Given the description of an element on the screen output the (x, y) to click on. 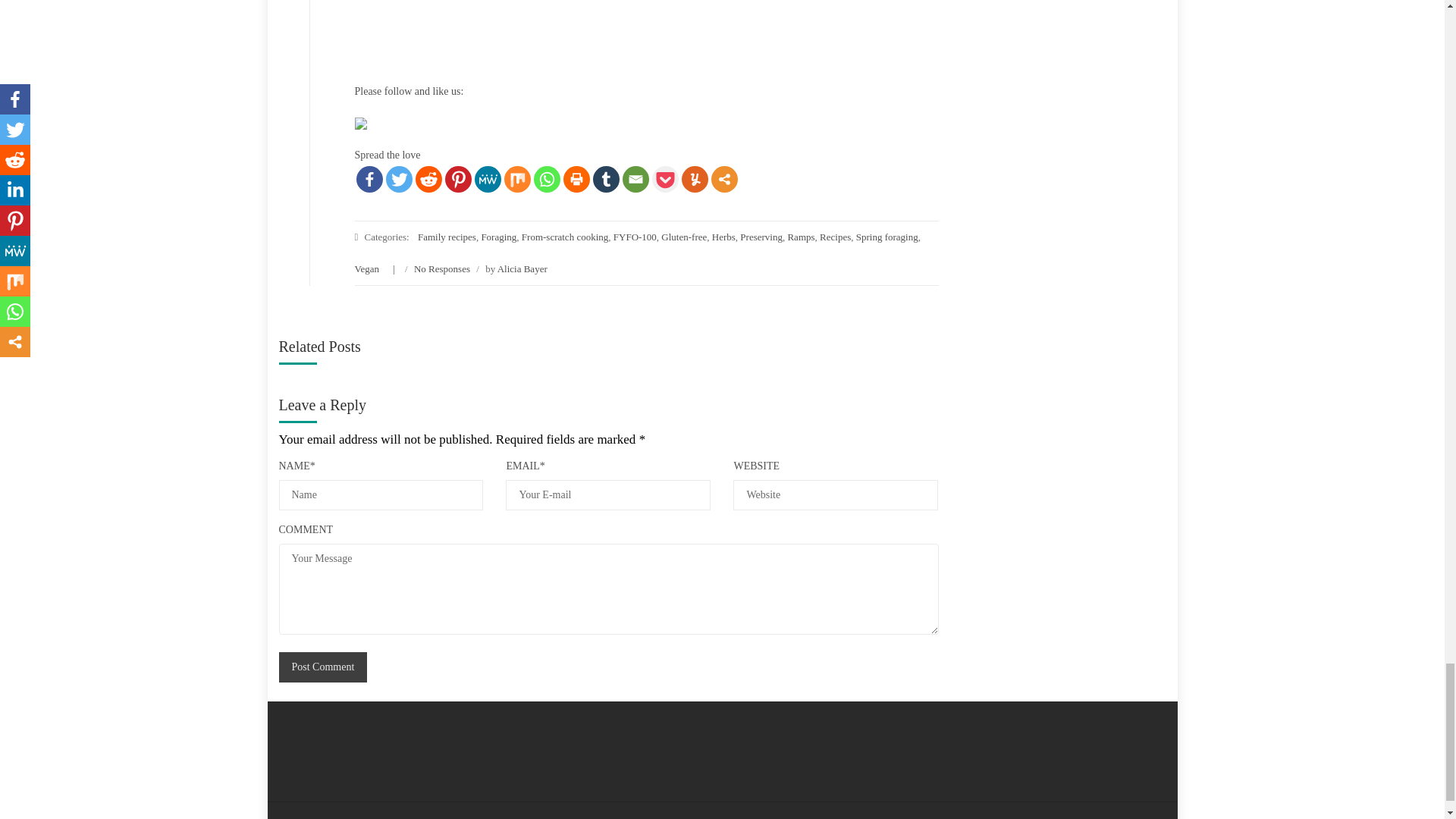
Spring foraging (887, 236)
Post Comment (323, 666)
Mix (516, 179)
Whatsapp (547, 179)
Reddit (428, 179)
From-scratch cooking (564, 236)
Family recipes (446, 236)
Pocket (665, 179)
Herbs (723, 236)
Twitter (398, 179)
Facebook (369, 179)
Vegan (367, 268)
Tumblr (606, 179)
Email (634, 179)
Ramps (800, 236)
